Given the description of an element on the screen output the (x, y) to click on. 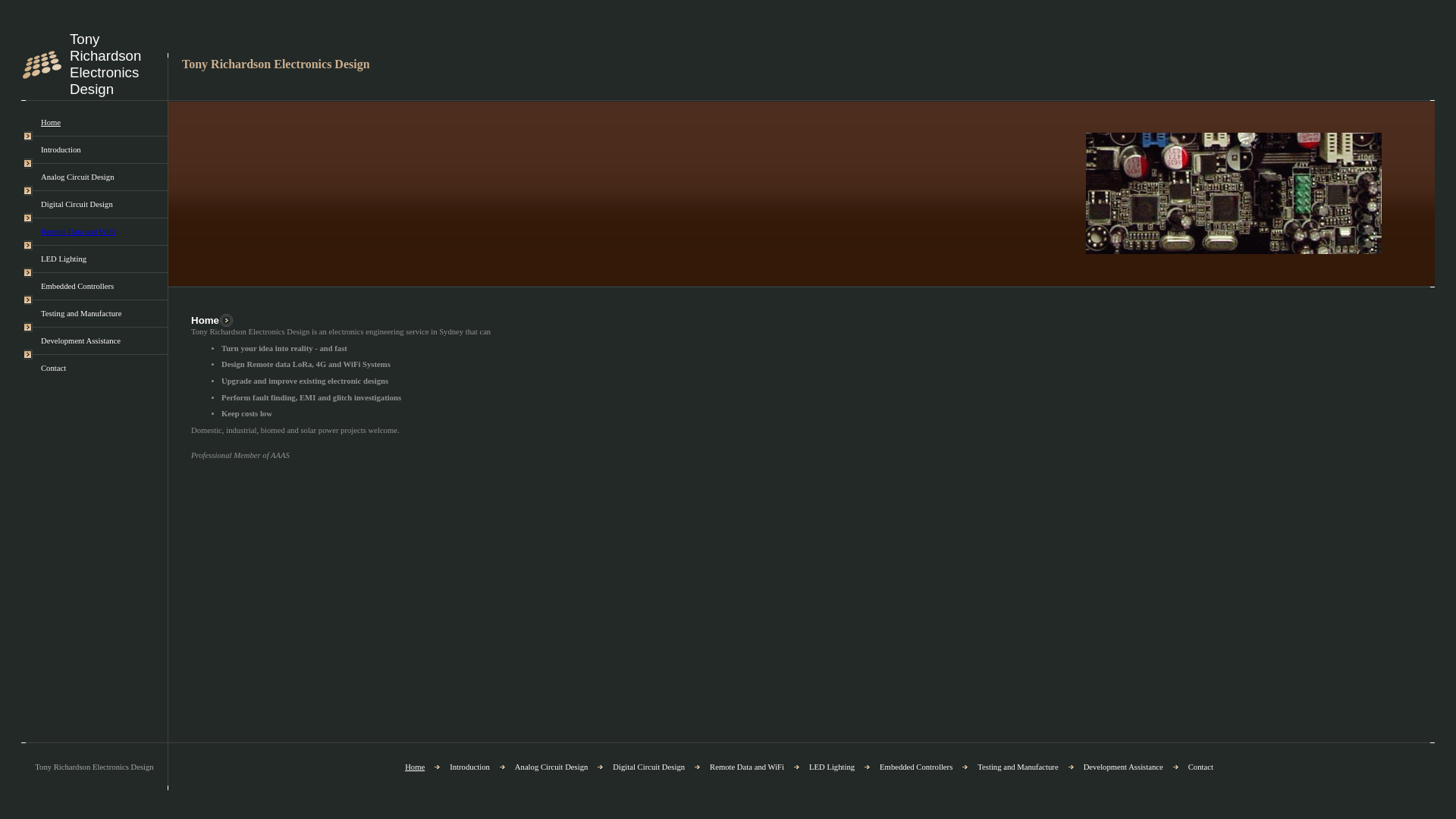
Development Assistance Element type: text (1123, 766)
Introduction Element type: text (469, 766)
Embedded Controllers Element type: text (915, 766)
Digital Circuit Design Element type: text (76, 204)
Contact Element type: text (52, 368)
Embedded Controllers Element type: text (76, 286)
Development Assistance Element type: text (80, 340)
Digital Circuit Design Element type: text (648, 766)
Analog Circuit Design Element type: text (550, 766)
Introduction Element type: text (60, 149)
Remote Data and WiFi Element type: text (77, 231)
LED Lighting Element type: text (831, 766)
Testing and Manufacture Element type: text (80, 313)
LED Lighting Element type: text (63, 258)
Analog Circuit Design Element type: text (76, 176)
Remote Data and WiFi Element type: text (746, 766)
Contact Element type: text (1200, 766)
Testing and Manufacture Element type: text (1017, 766)
